Given the description of an element on the screen output the (x, y) to click on. 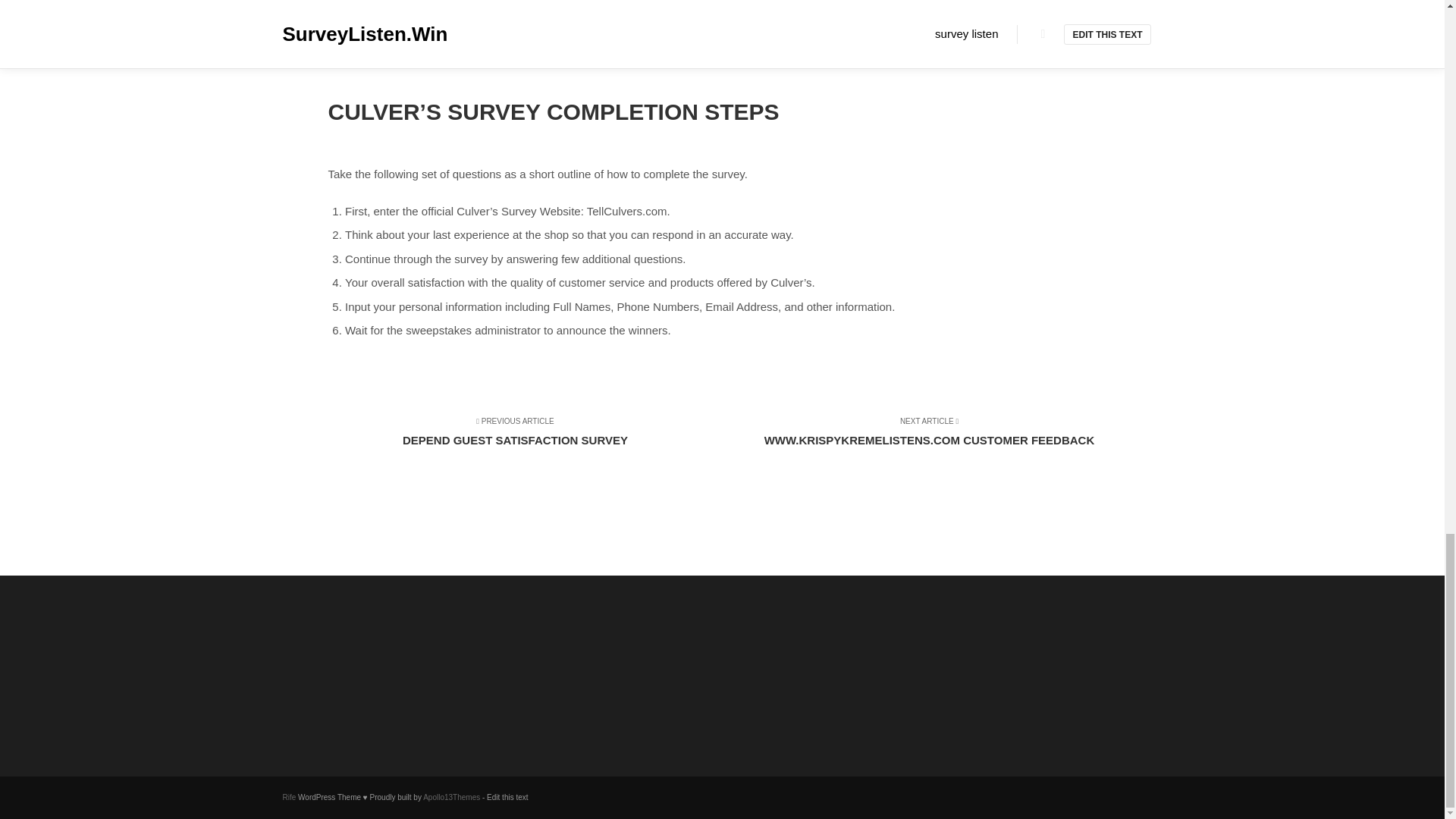
Rife (524, 438)
Apollo13Themes (288, 797)
